Given the description of an element on the screen output the (x, y) to click on. 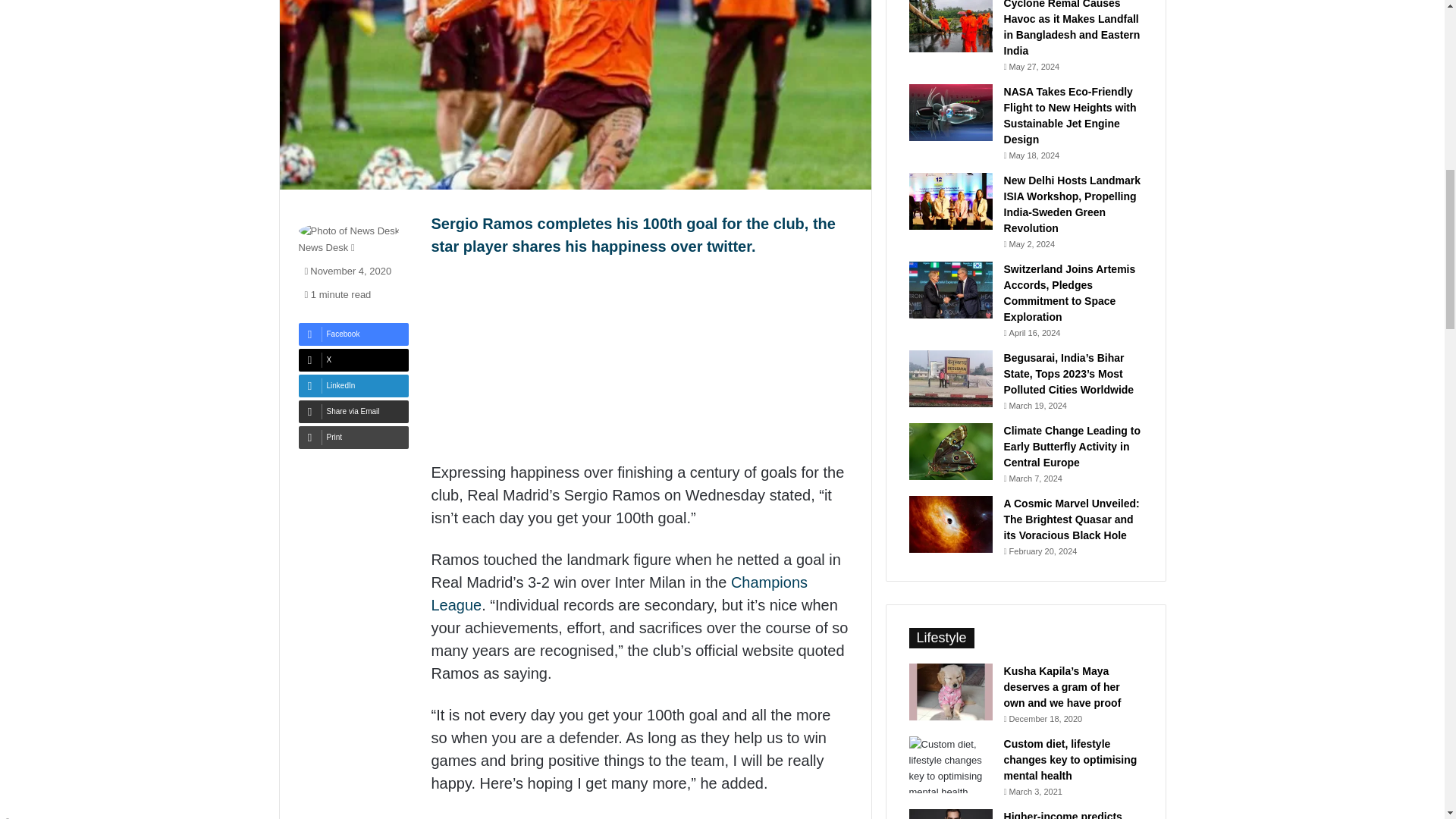
Facebook (353, 333)
Share via Email (353, 411)
Champions League (619, 593)
News Desk (323, 247)
LinkedIn (353, 385)
X (353, 359)
Print (353, 436)
